Given the description of an element on the screen output the (x, y) to click on. 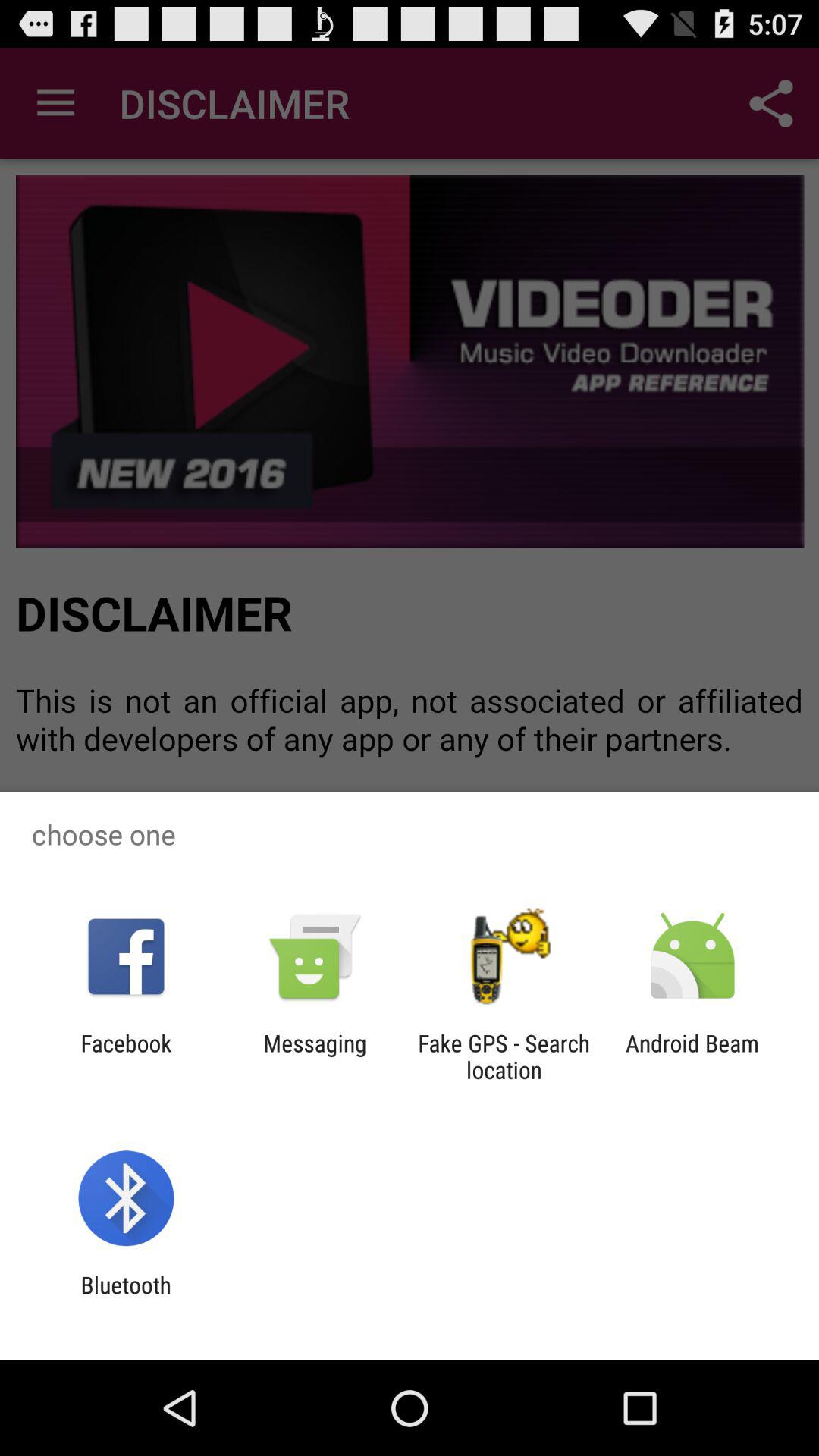
launch fake gps search app (503, 1056)
